Given the description of an element on the screen output the (x, y) to click on. 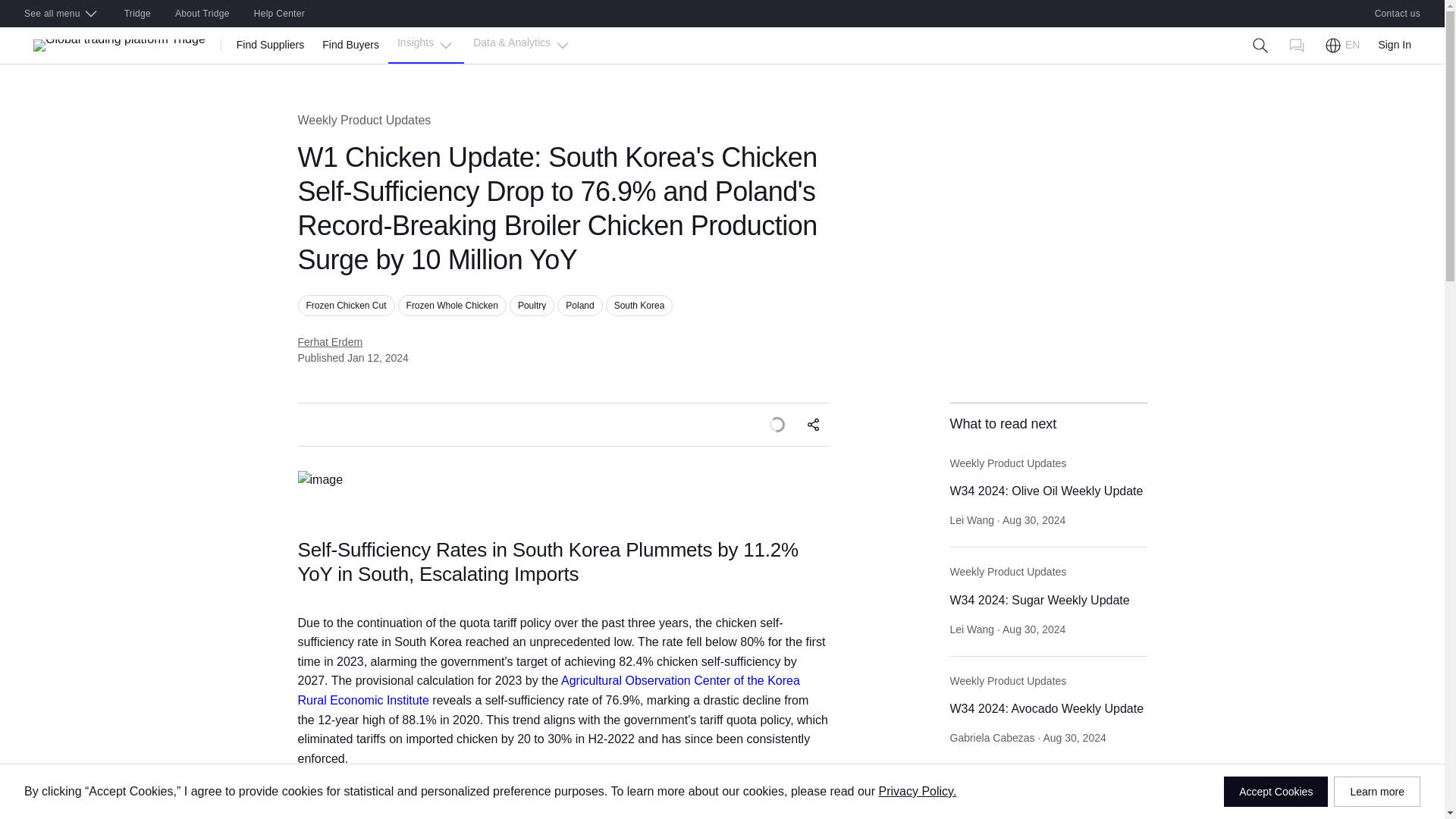
Contact us (1397, 13)
See all menu (61, 13)
Tridge (137, 13)
Help Center (279, 13)
About Tridge (202, 13)
